Given the description of an element on the screen output the (x, y) to click on. 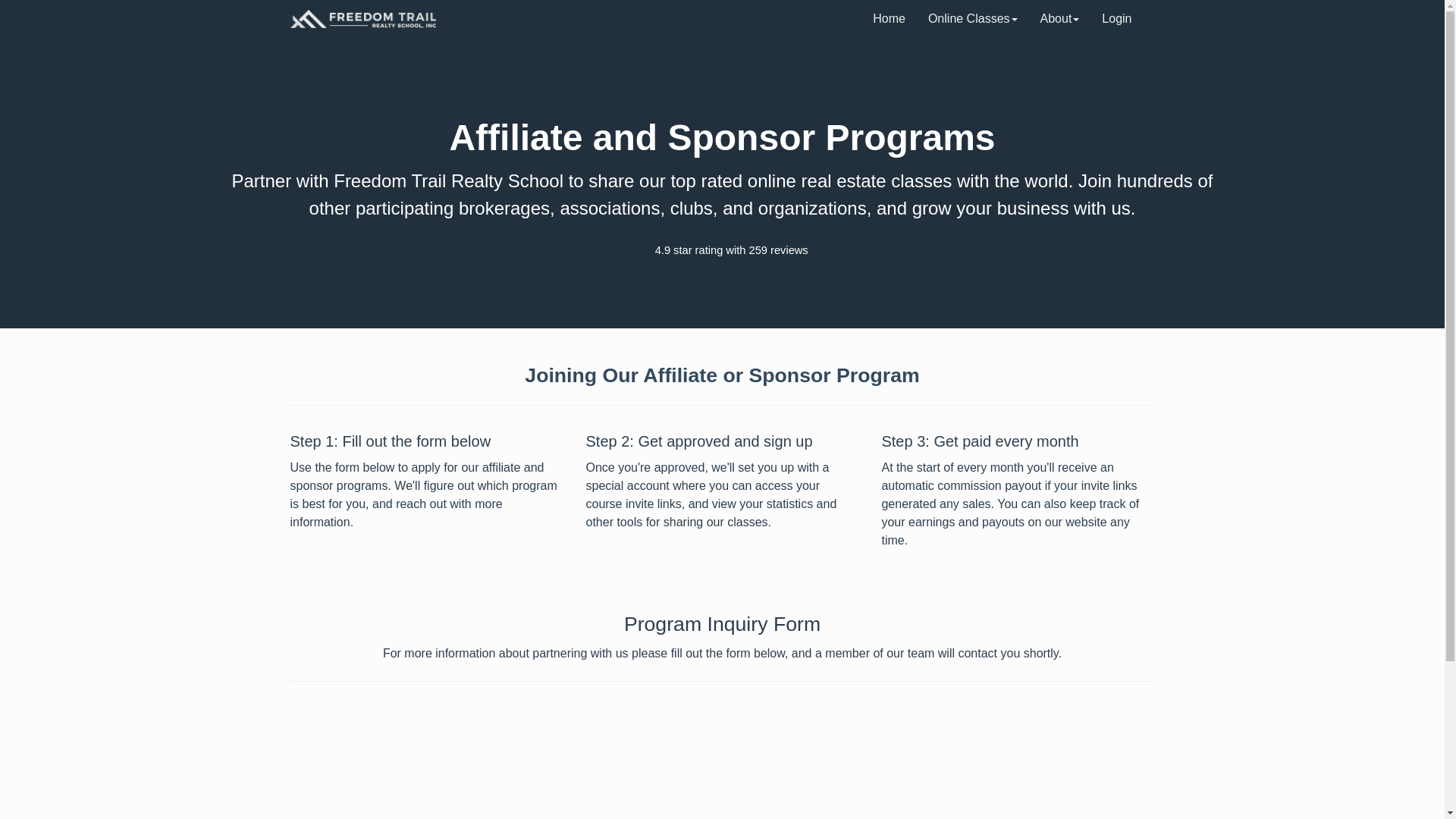
About (1059, 18)
Online Classes Dropdown Toggle (973, 18)
Login (1116, 18)
Go Home (889, 18)
     4.9 star rating with 259 reviews (721, 250)
Freedom Trail Realty School, Inc. (362, 18)
Online Classes (973, 18)
Go Home (362, 18)
Login to your account (1116, 18)
About Dropdown Toggle (1059, 18)
